Given the description of an element on the screen output the (x, y) to click on. 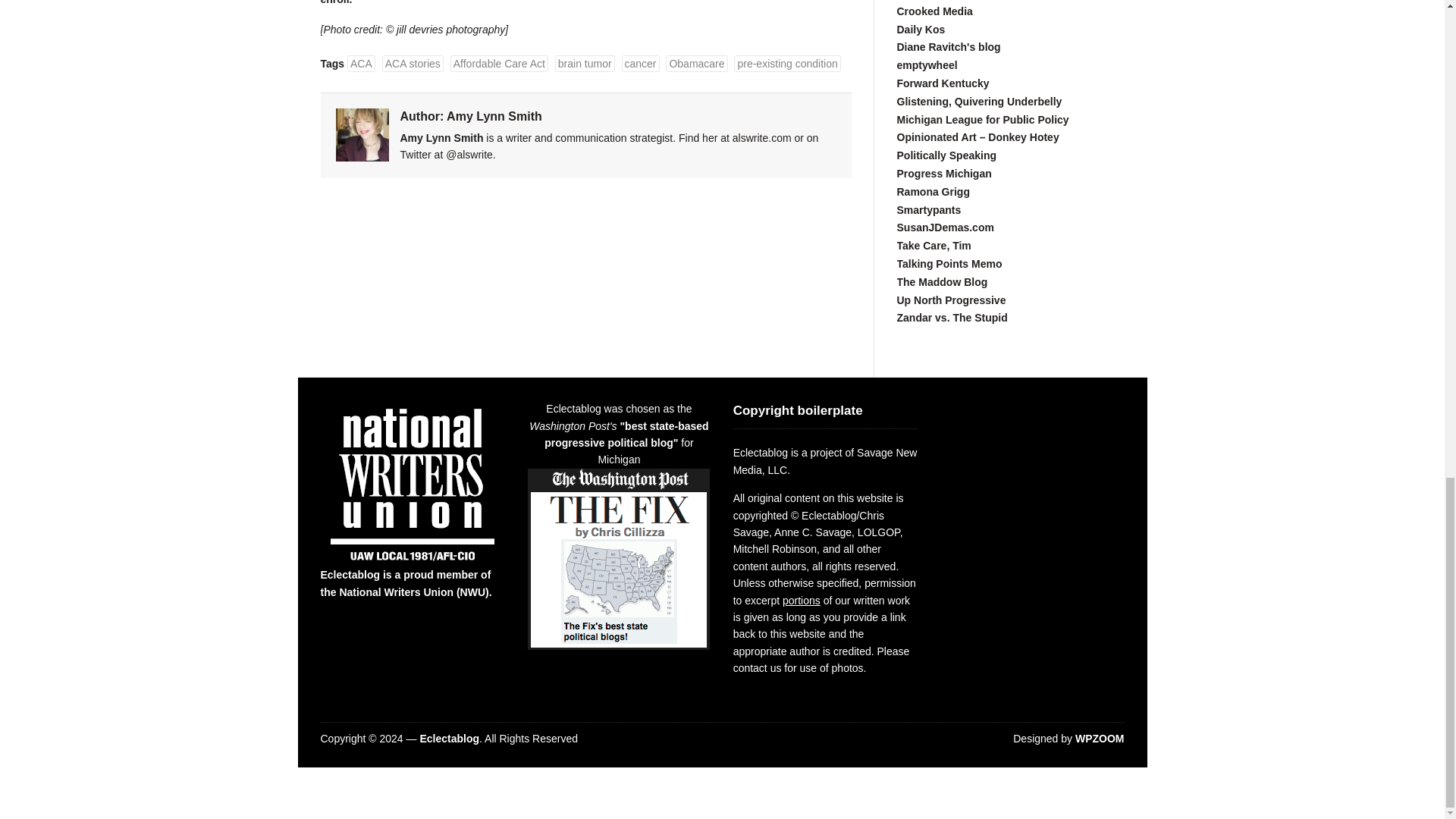
pre-existing condition (786, 63)
Personal blog of Eclectablogger and journalist Susan Demas (944, 227)
Pod will save everything (934, 10)
cancer (640, 63)
Affordable Care Act (498, 63)
Amy Lynn Smith (493, 115)
ACA (361, 63)
ACA stories (412, 63)
alswrite.com (762, 137)
The progressive voice for Kentucky politics (942, 82)
Posts by Amy Lynn Smith (493, 115)
Obamacare (695, 63)
brain tumor (584, 63)
